Given the description of an element on the screen output the (x, y) to click on. 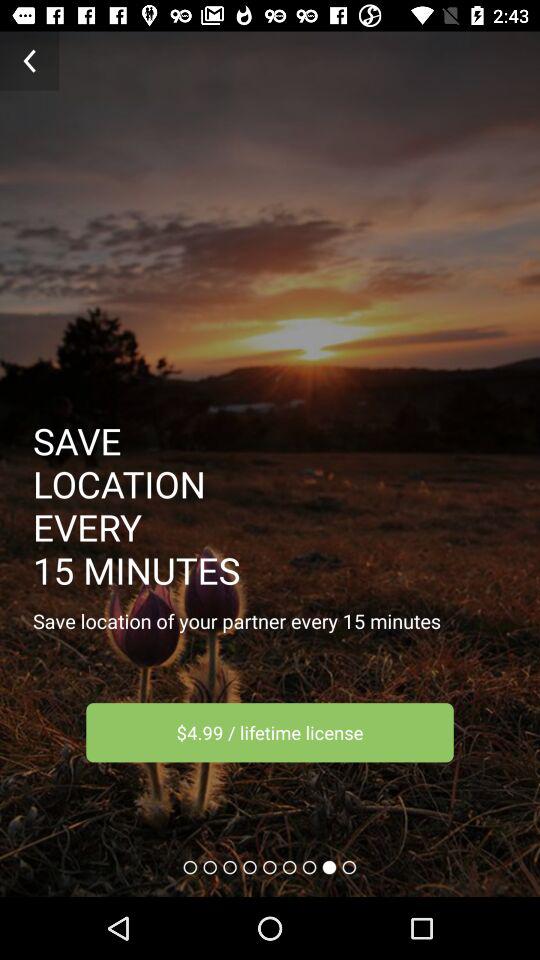
turn off icon below the save location of item (269, 732)
